Given the description of an element on the screen output the (x, y) to click on. 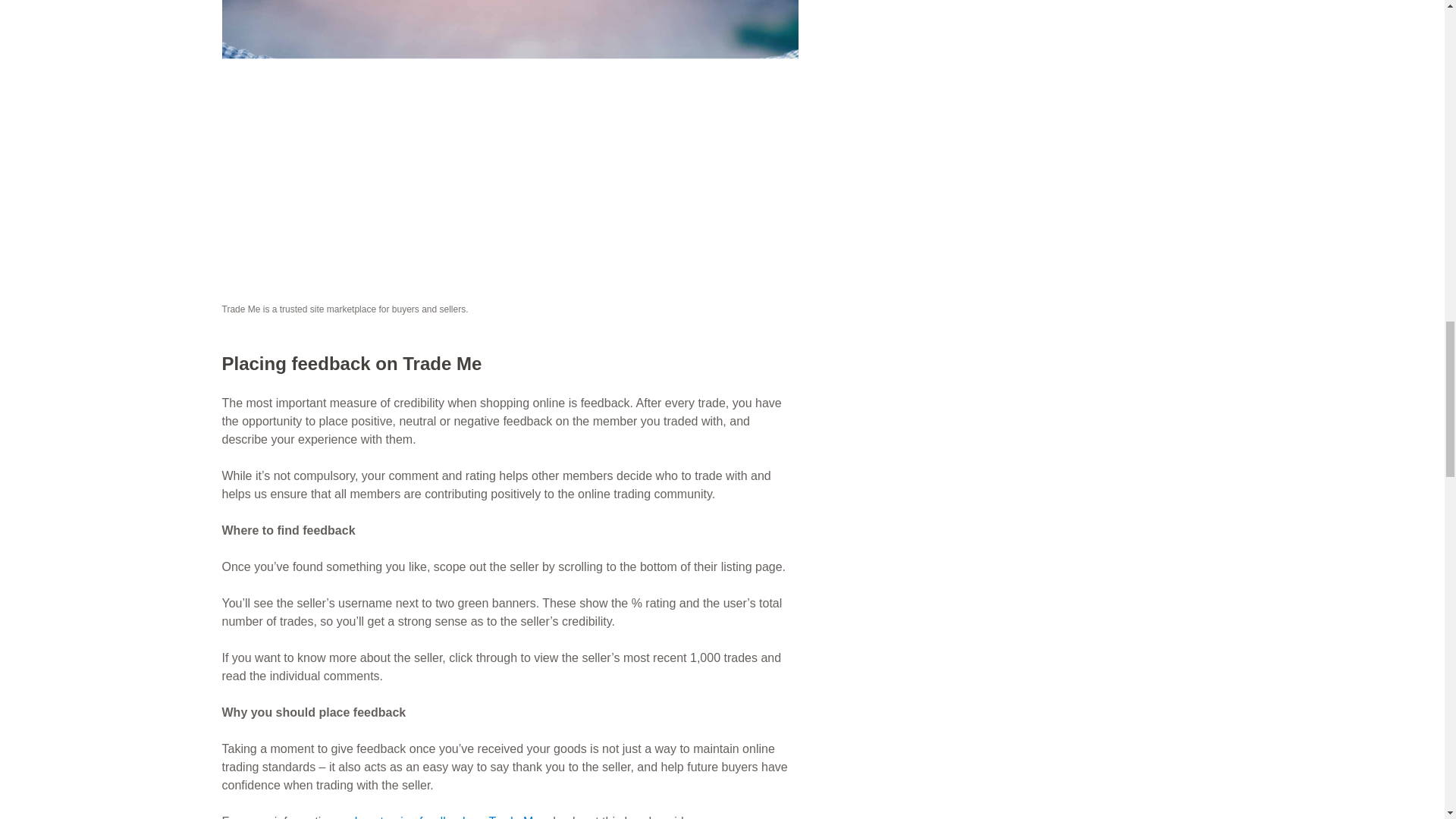
how to give feedback on Trade Me (447, 816)
